Given the description of an element on the screen output the (x, y) to click on. 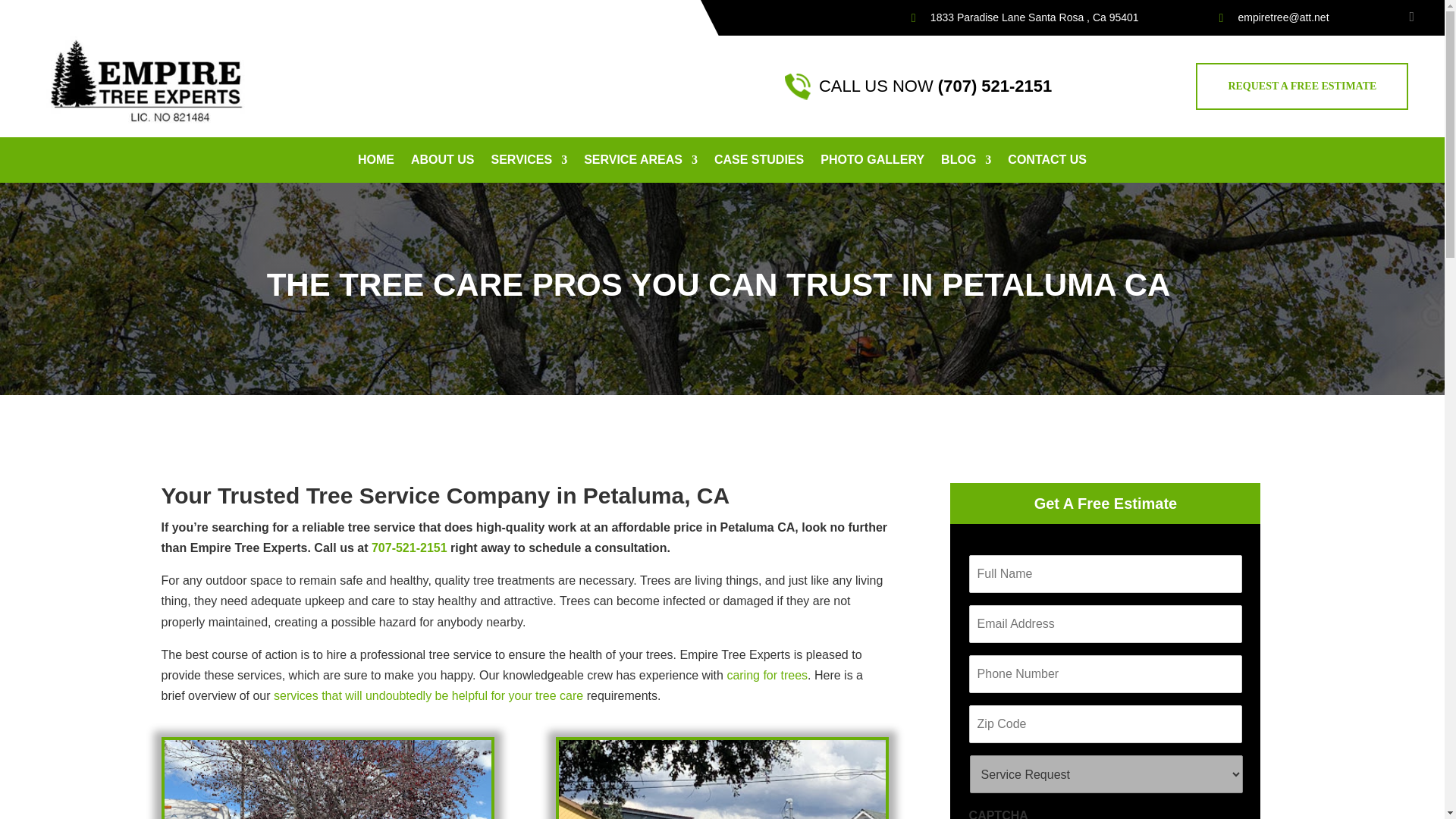
CASE STUDIES (758, 162)
1833 Paradise Lane Santa Rosa , Ca 95401 (1024, 17)
REQUEST A FREE ESTIMATE (1301, 85)
PHOTO GALLERY (872, 162)
SERVICE AREAS (640, 162)
ABOUT US (442, 162)
BLOG (965, 162)
The Tree Care Pros You Can Trust in Petaluma CA 1 (326, 779)
HOME (376, 162)
SERVICES (529, 162)
CONTACT US (1046, 162)
Empire-Tree-Experts-Logo (149, 82)
The Tree Care Pros You Can Trust in Petaluma CA 2 (722, 779)
